Given the description of an element on the screen output the (x, y) to click on. 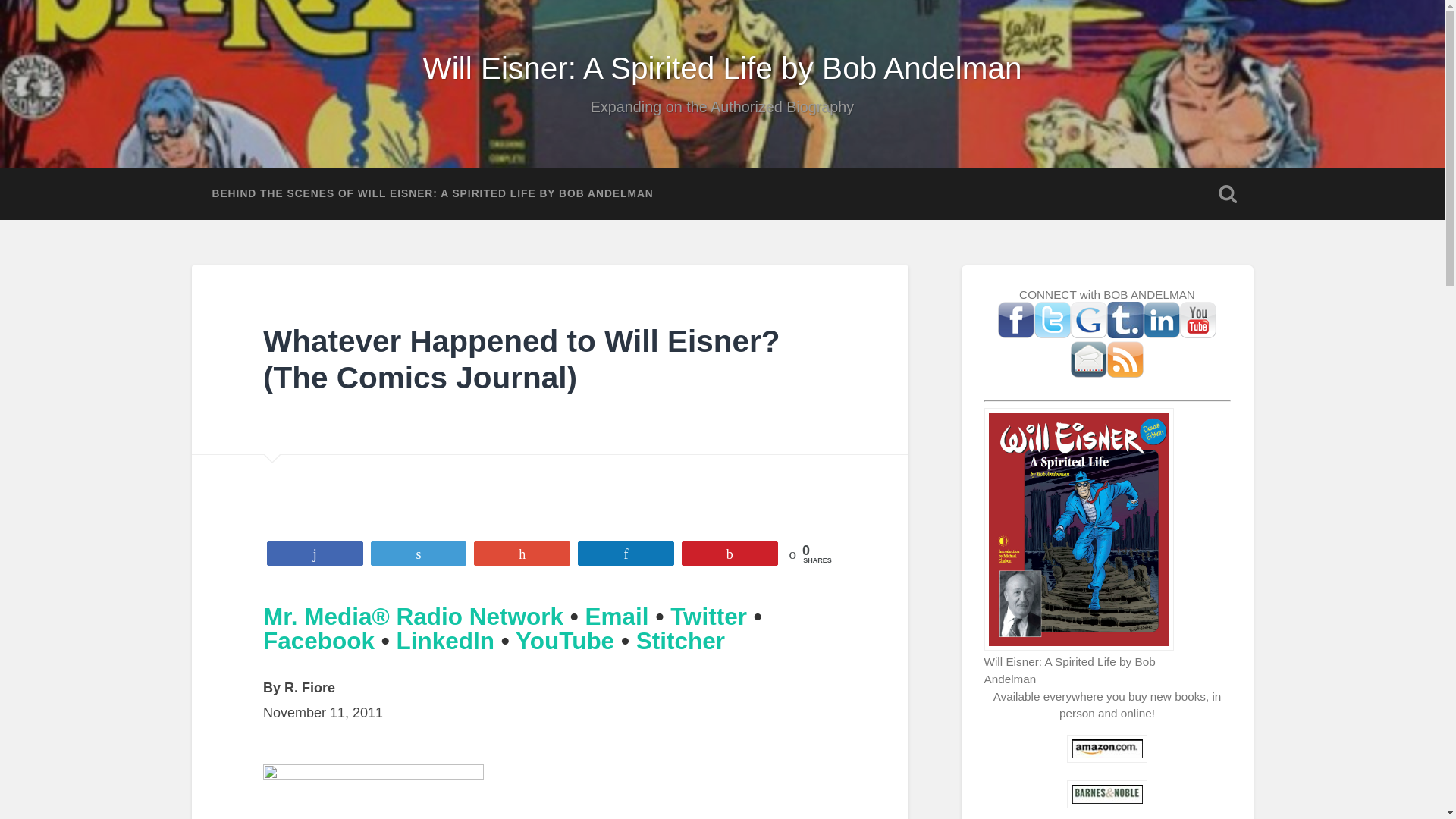
Email (617, 615)
YouTube (564, 640)
Facebook (318, 640)
LinkedIn (445, 640)
Will Eisner: A Spirited Life by Bob Andelman (722, 67)
Twitter (707, 615)
Stitcher (680, 640)
